Given the description of an element on the screen output the (x, y) to click on. 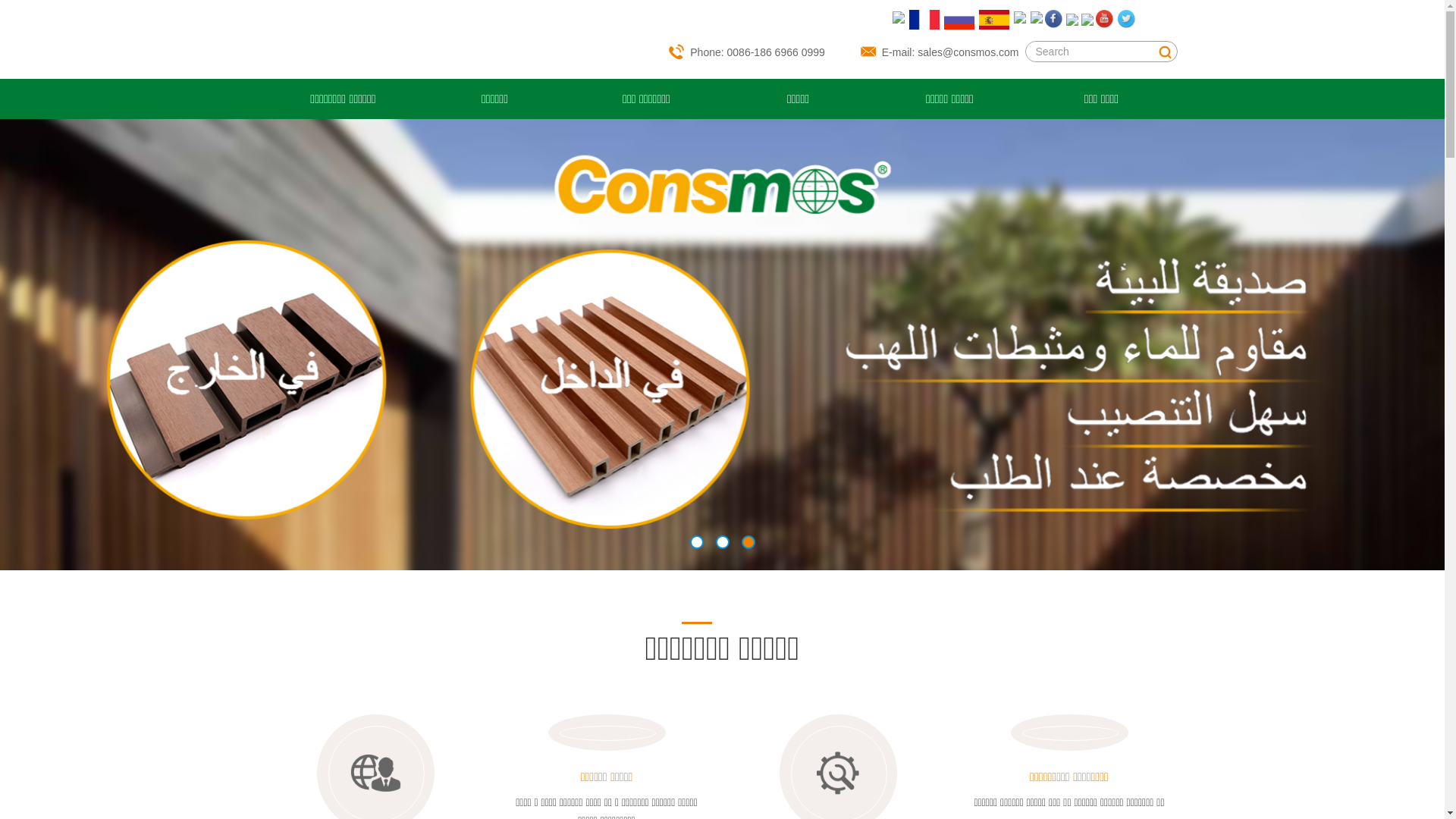
1 Element type: text (696, 542)
sales@consmos.com Element type: text (967, 52)
3 Element type: text (748, 542)
2 Element type: text (722, 542)
